Given the description of an element on the screen output the (x, y) to click on. 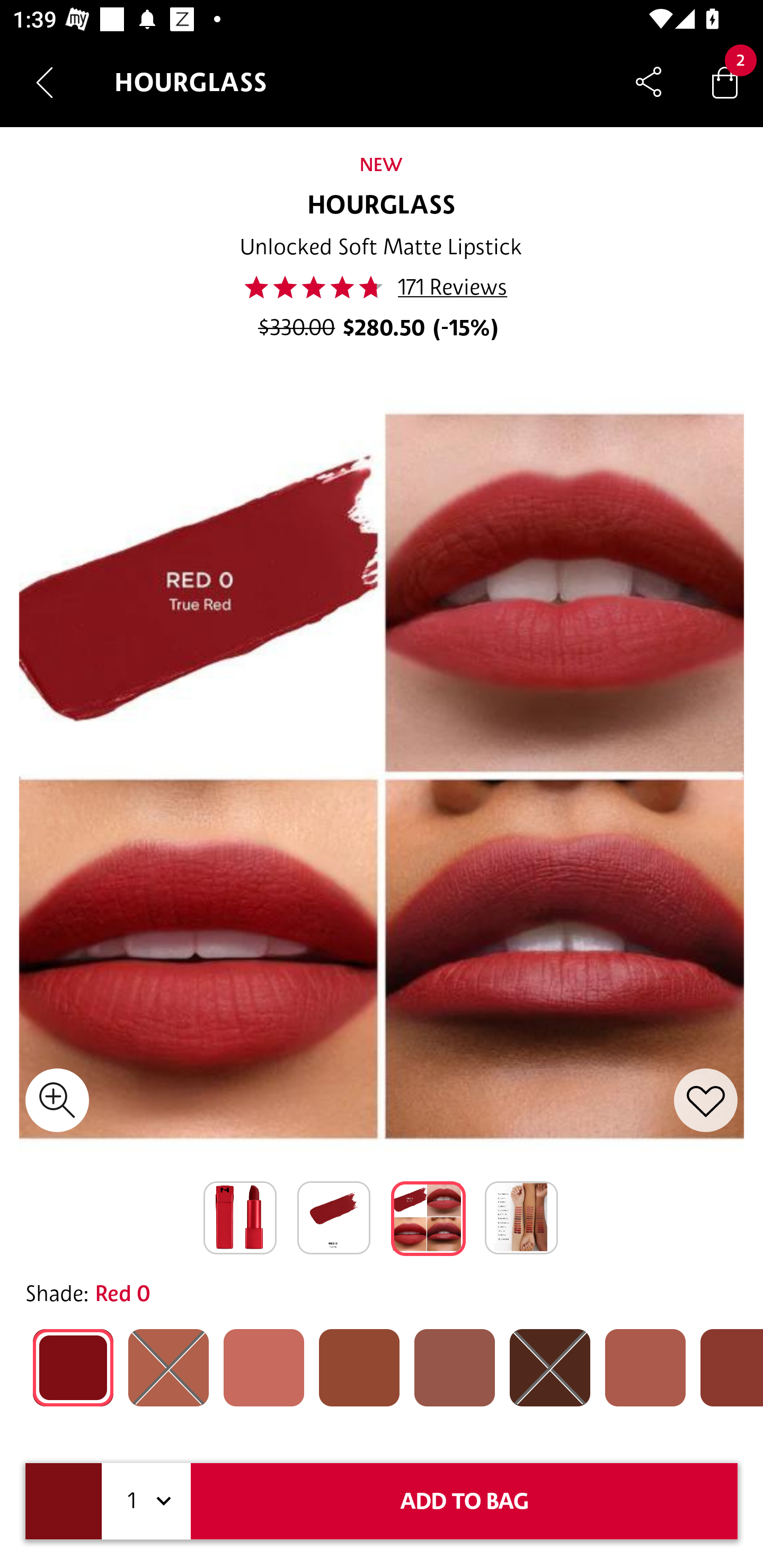
Navigate up (44, 82)
Share (648, 81)
Bag (724, 81)
HOURGLASS (381, 205)
47.0 171 Reviews (380, 286)
1 (145, 1500)
ADD TO BAG (463, 1500)
